Given the description of an element on the screen output the (x, y) to click on. 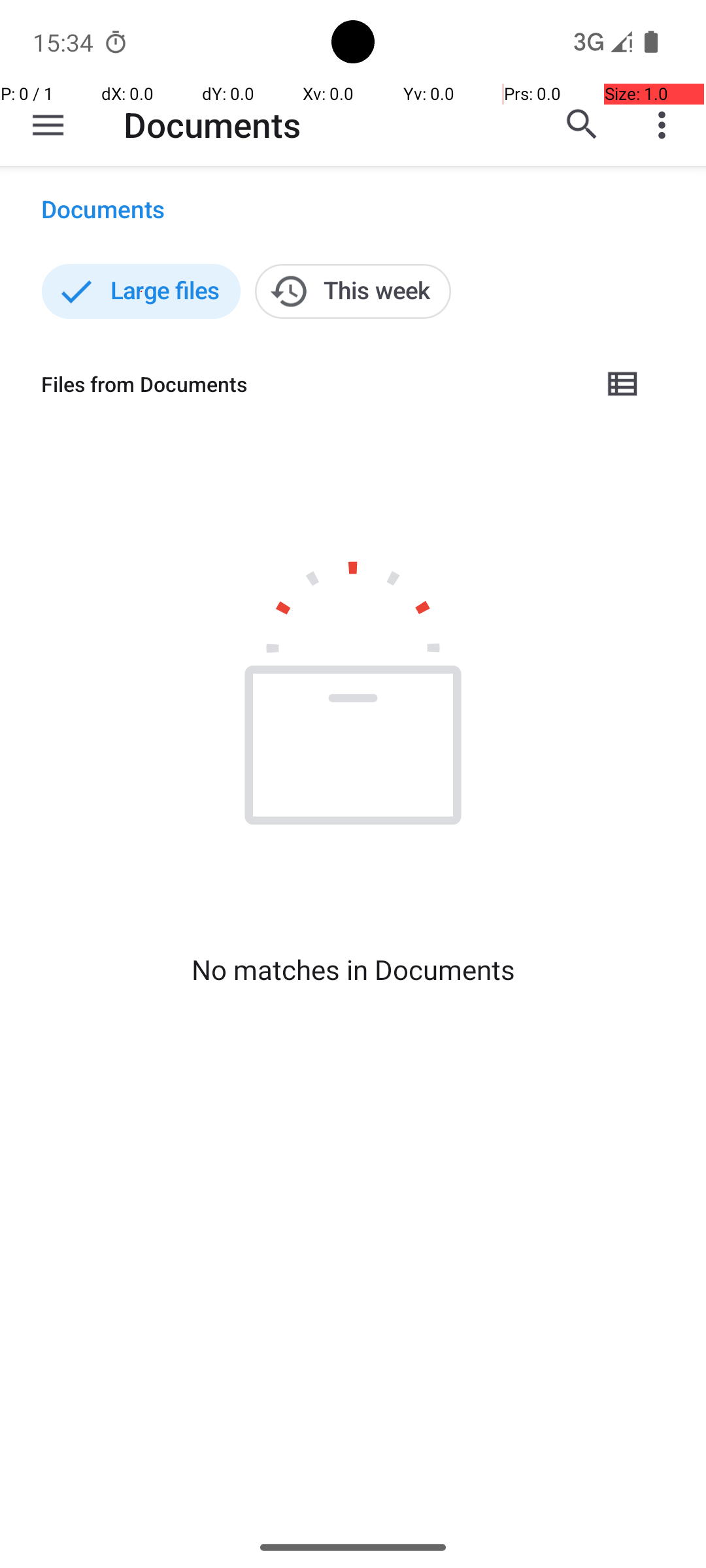
No matches in Documents Element type: android.widget.TextView (352, 968)
